Given the description of an element on the screen output the (x, y) to click on. 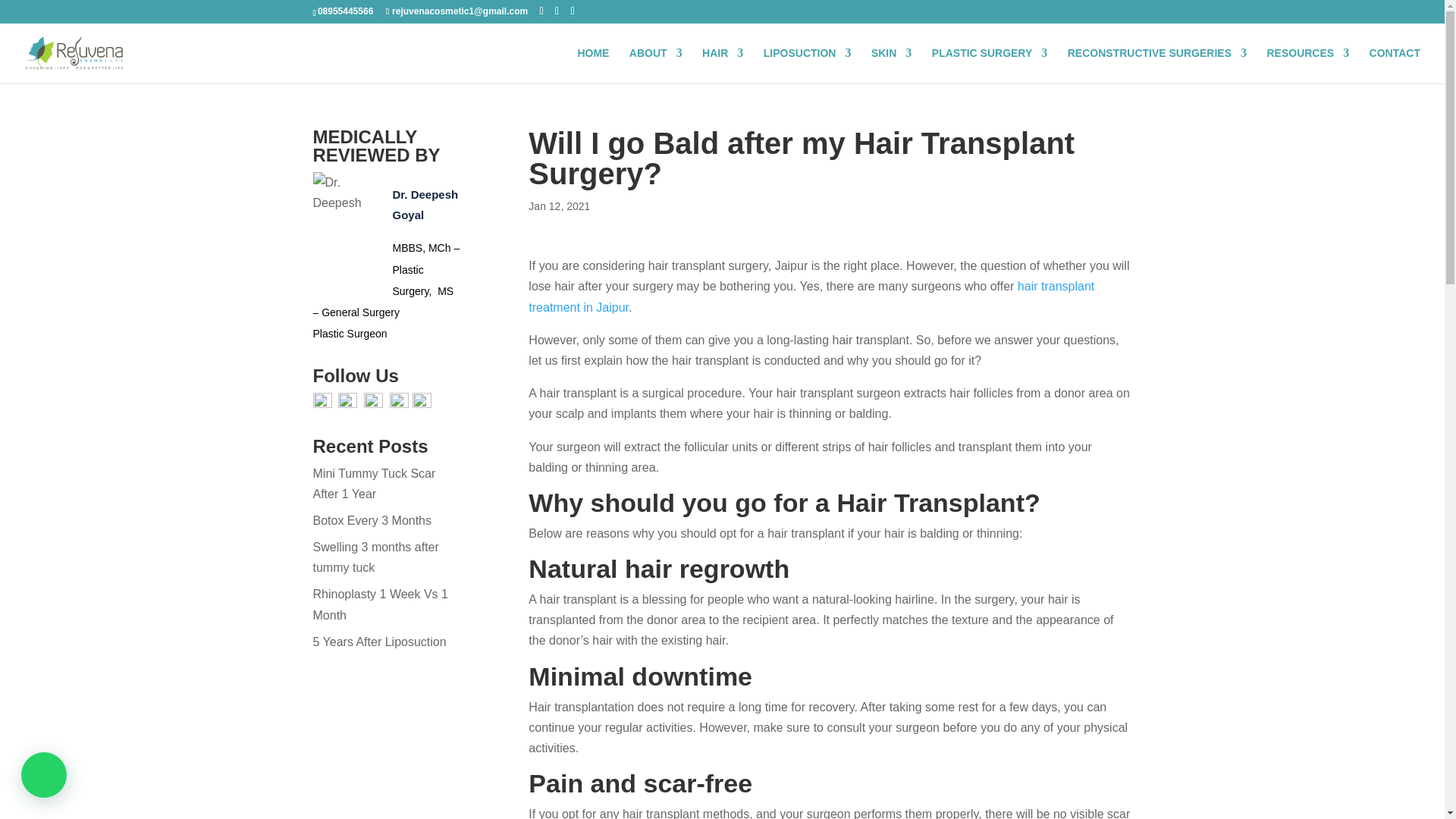
ABOUT (655, 65)
LIPOSUCTION (806, 65)
HOME (592, 65)
HAIR (721, 65)
SKIN (890, 65)
